Given the description of an element on the screen output the (x, y) to click on. 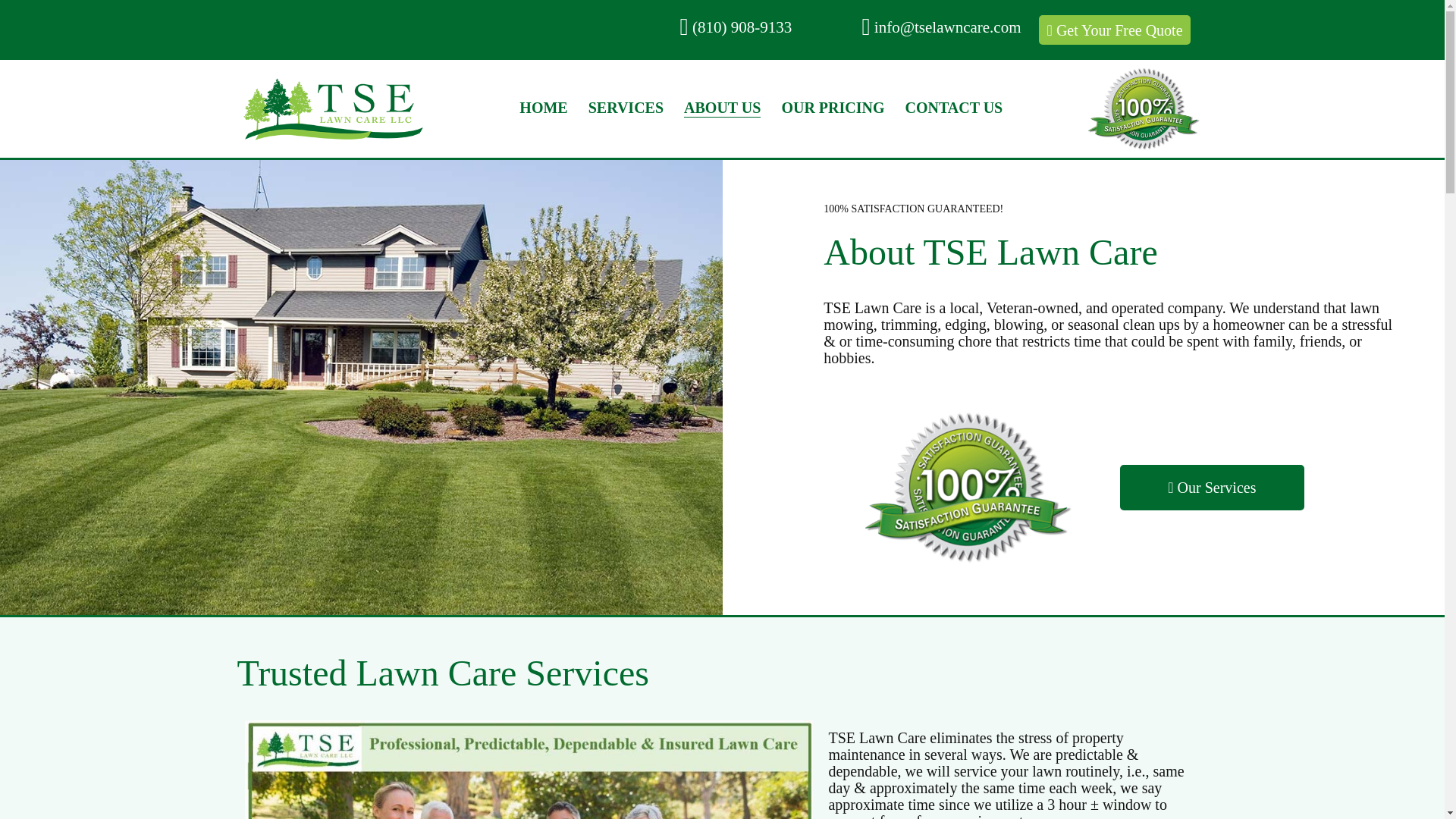
Get Your Free Quote (1115, 8)
SERVICES (625, 108)
ABOUT US (722, 108)
Our Services (1211, 487)
HOME (543, 108)
CONTACT US (954, 108)
OUR PRICING (831, 108)
